Given the description of an element on the screen output the (x, y) to click on. 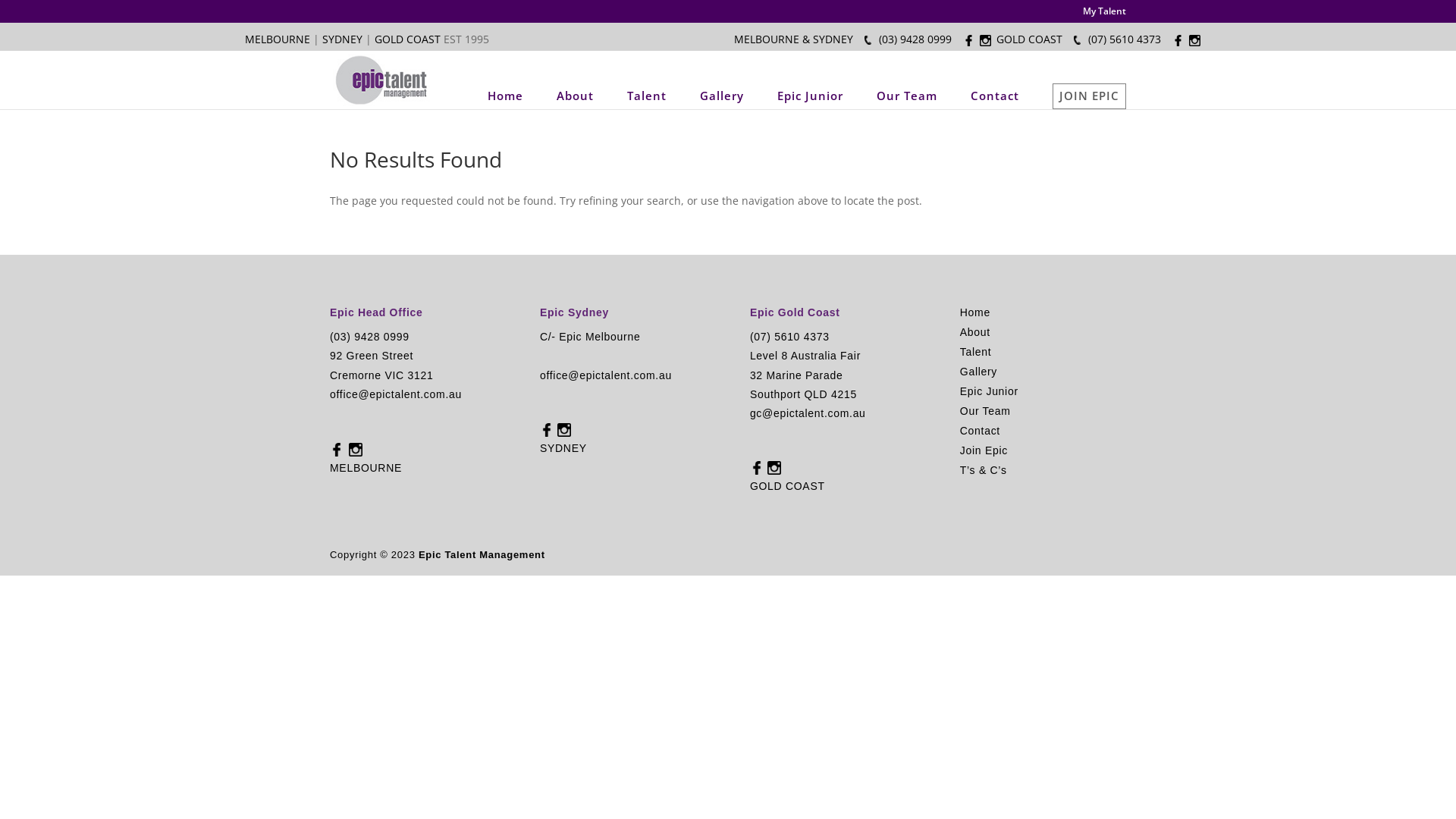
Talent Element type: text (646, 95)
Gallery Element type: text (721, 95)
Home Element type: text (975, 312)
Talent Element type: text (975, 351)
Gallery Element type: text (978, 371)
Join Epic Element type: text (983, 450)
office@epictalent.com.au Element type: text (605, 375)
Our Team Element type: text (985, 410)
JOIN EPIC Element type: text (1089, 96)
office@epictalent.com.au Element type: text (395, 394)
(03) 9428 0999 Element type: text (369, 336)
GOLD COAST Element type: text (408, 38)
Contact Element type: text (980, 430)
About Element type: text (574, 95)
My Talent Element type: text (1104, 14)
GOLD COAST Element type: text (1029, 38)
MELBOURNE Element type: text (277, 38)
Home Element type: text (505, 95)
Epic Junior Element type: text (989, 391)
MELBOURNE & SYDNEY Element type: text (793, 38)
(03) 9428 0999 Element type: text (914, 38)
Epic Junior Element type: text (810, 95)
About Element type: text (975, 332)
(07) 5610 4373 Element type: text (1124, 38)
Epic Talent Management Element type: text (481, 554)
SYDNEY Element type: text (342, 38)
Contact Element type: text (994, 95)
gc@epictalent.com.au Element type: text (807, 413)
Our Team Element type: text (906, 95)
(07) 5610 4373 Element type: text (789, 336)
